Given the description of an element on the screen output the (x, y) to click on. 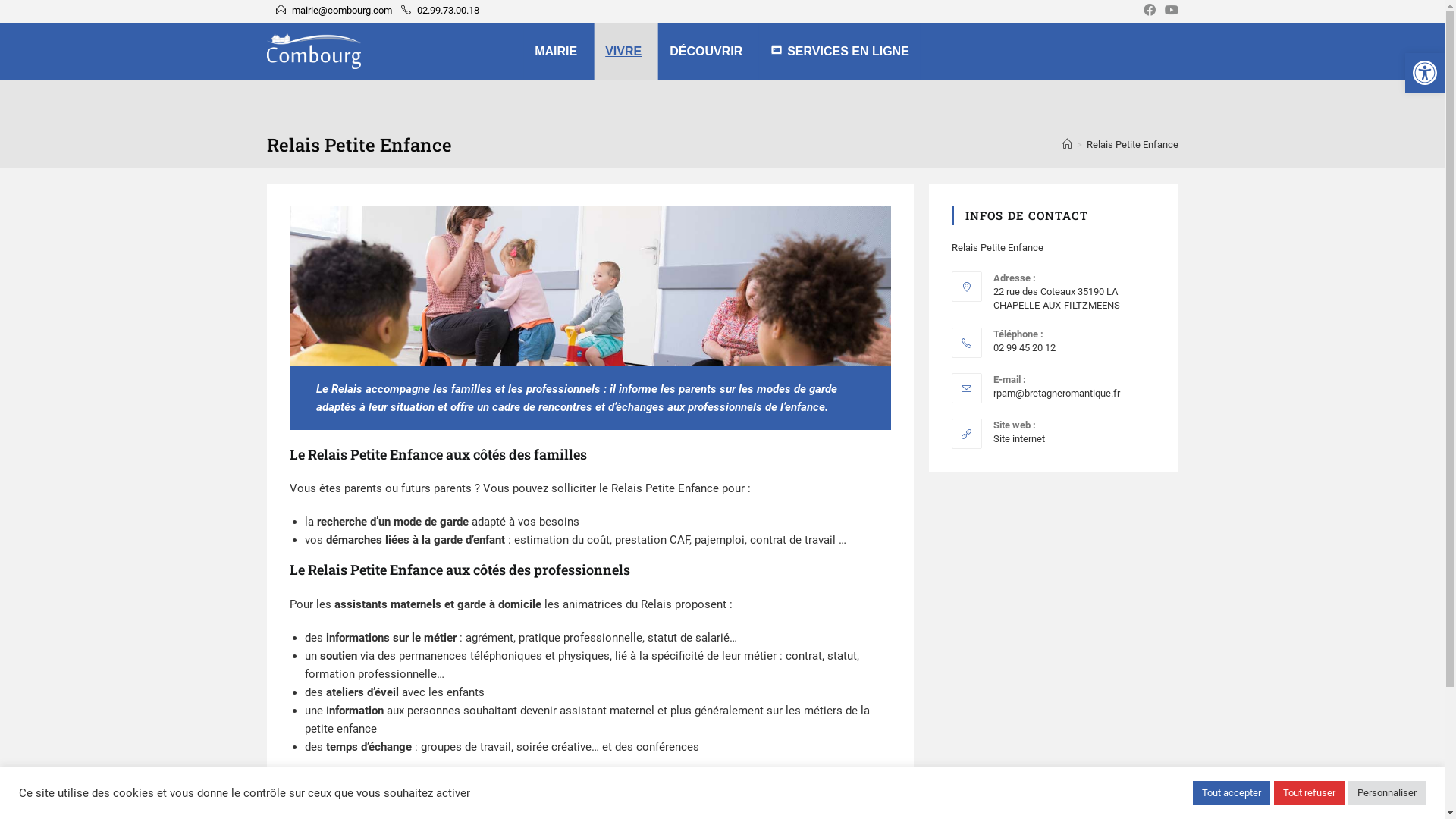
02.99.73.00.18 Element type: text (448, 9)
Personnaliser Element type: text (1386, 792)
rpam@bretagneromantique.fr Element type: text (1056, 392)
Tout refuser Element type: text (1309, 792)
VIVRE Element type: text (625, 50)
Tout accepter Element type: text (1231, 792)
Site internet Element type: text (1018, 438)
MAIRIE Element type: text (558, 50)
SERVICES EN LIGNE Element type: text (839, 50)
Relais Petite Enfance Element type: text (1131, 144)
mairie@combourg.com Element type: text (341, 9)
